Given the description of an element on the screen output the (x, y) to click on. 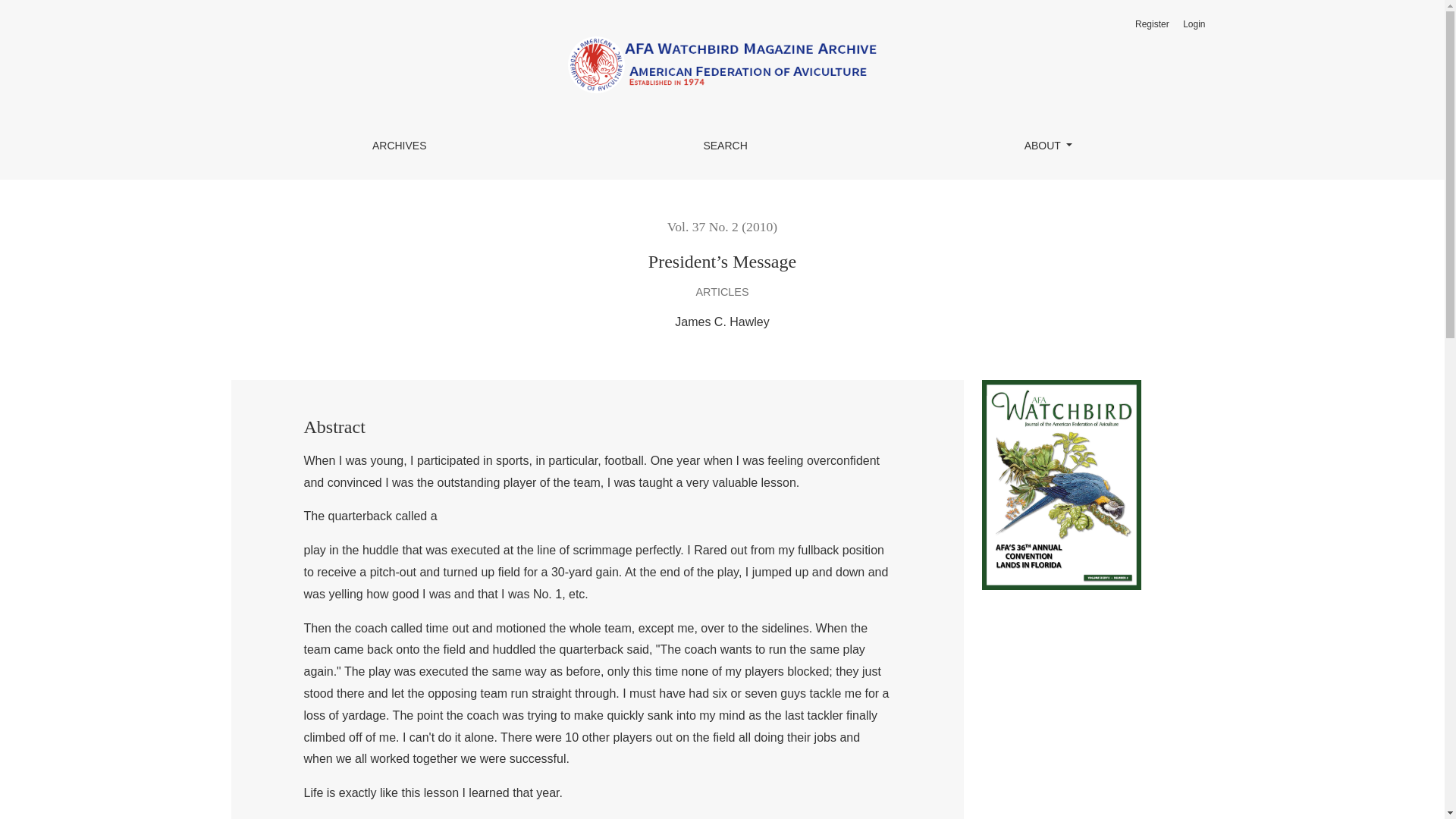
Register (1151, 24)
SEARCH (725, 145)
ARCHIVES (399, 145)
ABOUT (1047, 145)
Login (1193, 24)
